Given the description of an element on the screen output the (x, y) to click on. 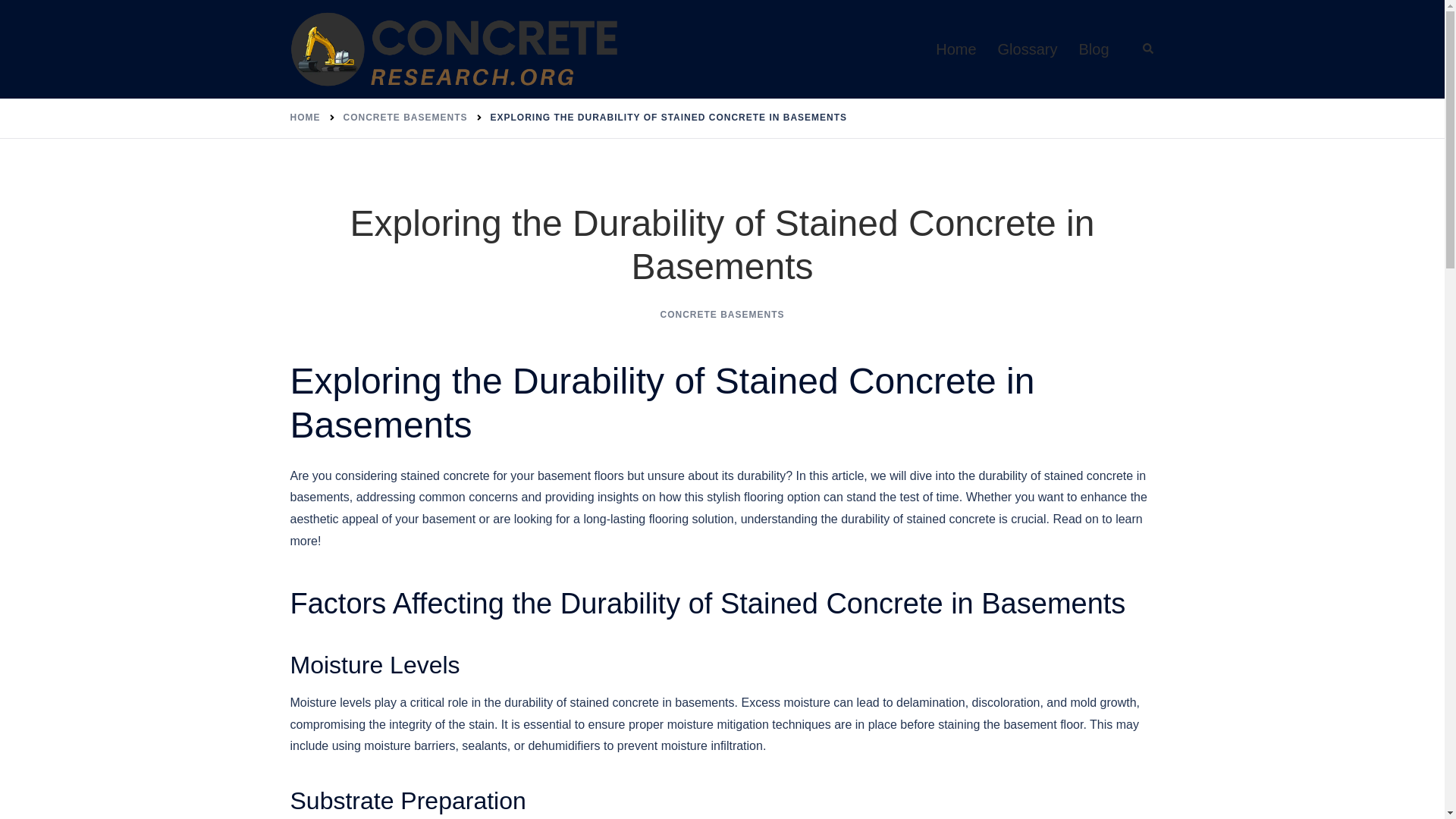
CONCRETE BASEMENTS (721, 314)
HOME (304, 117)
Home (955, 49)
CONCRETE BASEMENTS (404, 117)
Blog (1093, 49)
Search (1147, 49)
ConcreteResearch.org (454, 47)
Glossary (1027, 49)
